Given the description of an element on the screen output the (x, y) to click on. 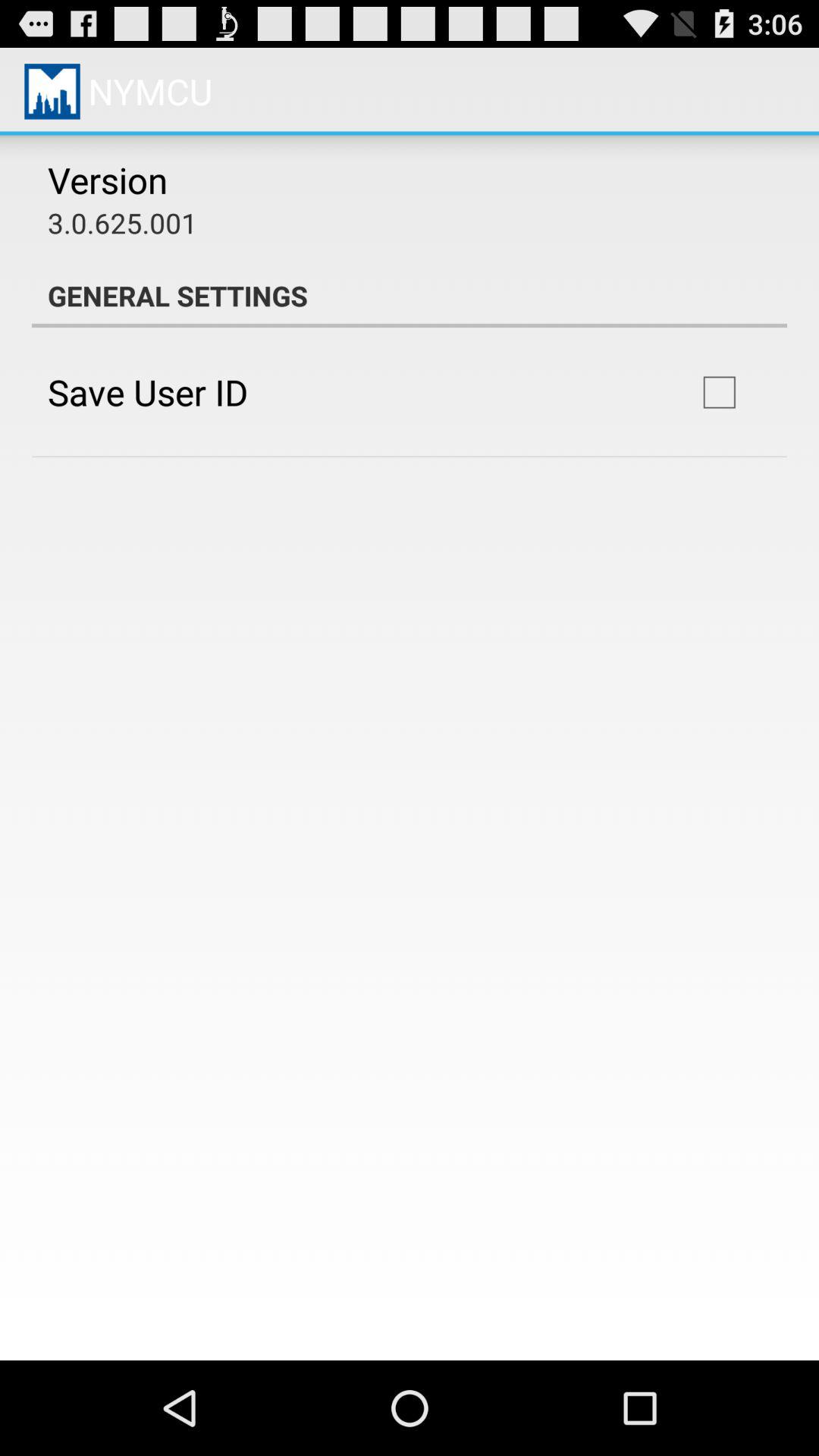
tap the app below general settings (719, 392)
